Given the description of an element on the screen output the (x, y) to click on. 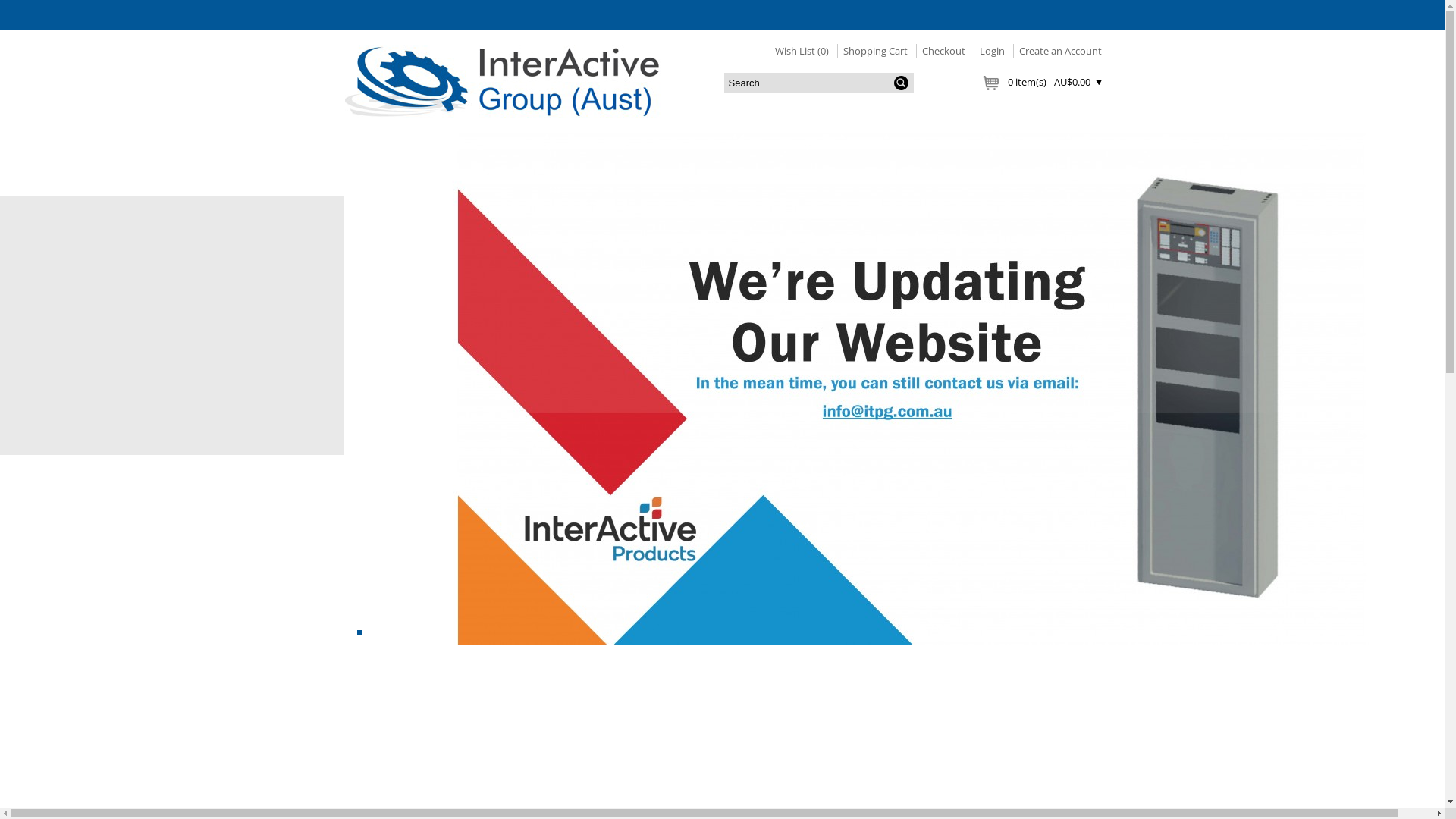
Create an Account Element type: text (1057, 50)
Search Element type: text (818, 82)
0 item(s) - AU$0.00 Element type: text (1041, 81)
Login Element type: text (988, 50)
1 Element type: text (358, 632)
InterActive Products Element type: hover (501, 81)
Shopping Cart Element type: text (872, 50)
Checkout Element type: text (940, 50)
Wish List (0) Element type: text (801, 50)
